Given the description of an element on the screen output the (x, y) to click on. 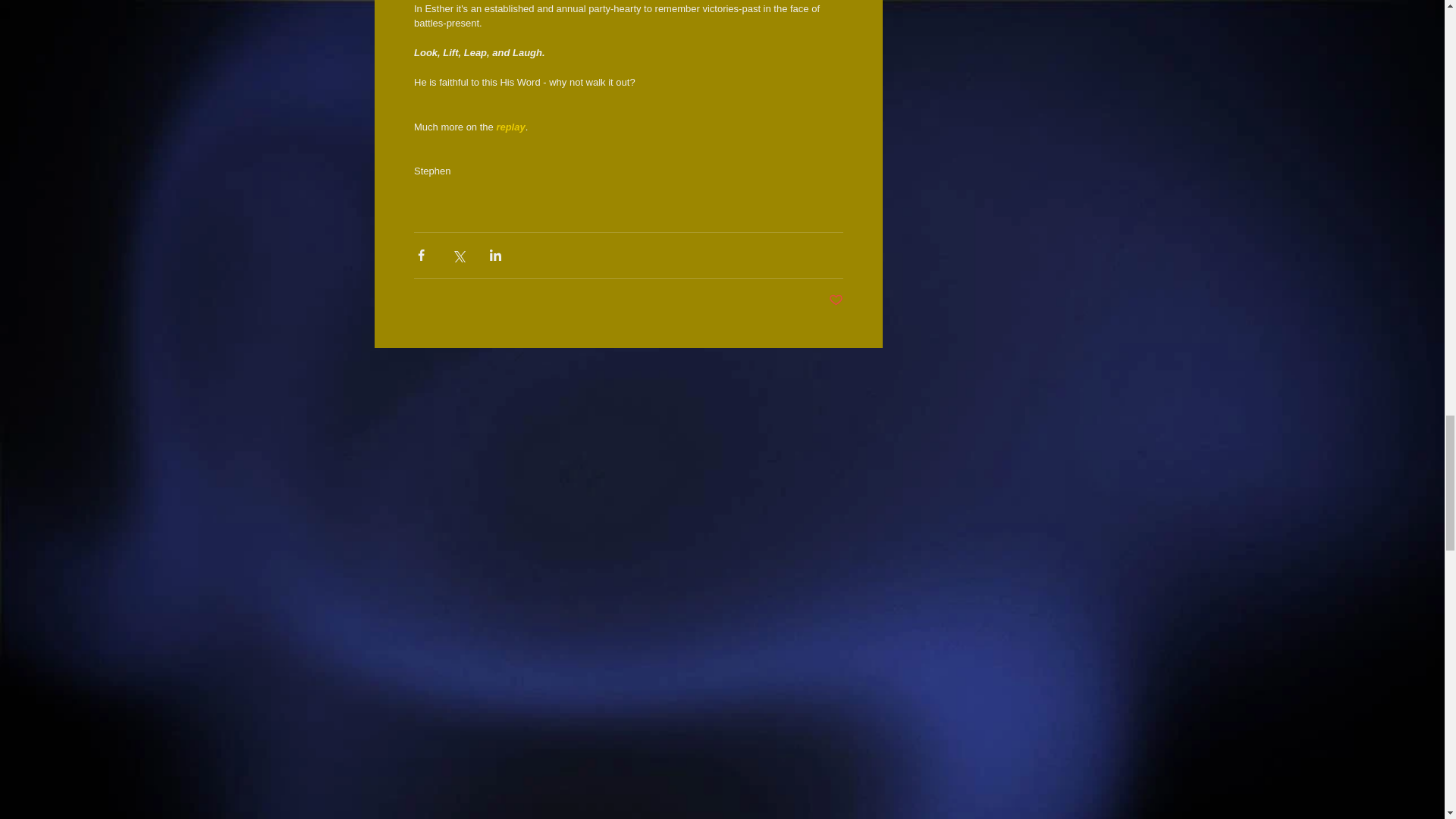
Post not marked as liked (835, 300)
replay (510, 126)
